Given the description of an element on the screen output the (x, y) to click on. 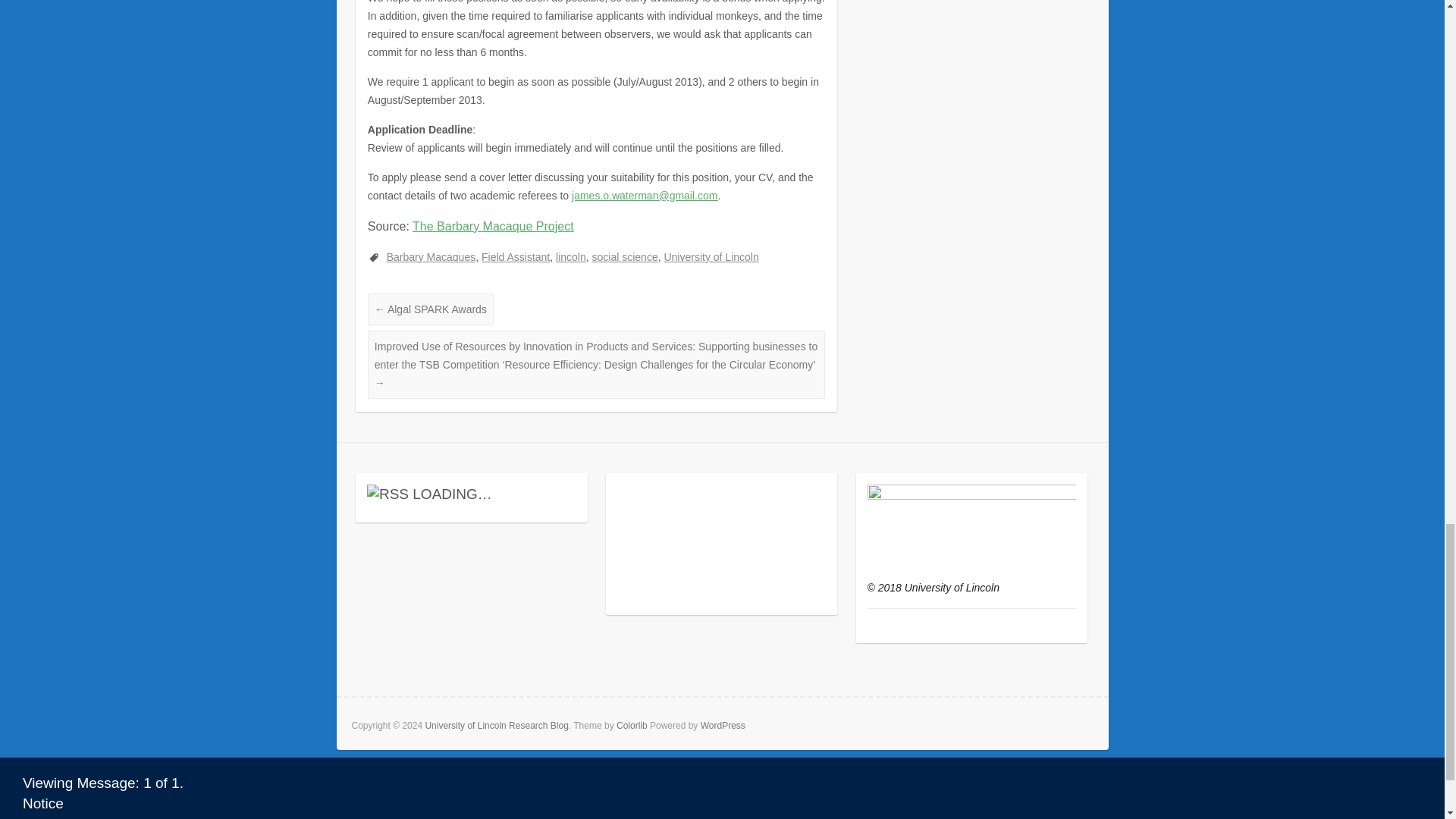
Barbary Macaques (431, 256)
lincoln (571, 256)
social science (625, 256)
Field Assistant (515, 256)
The Barbary Macaque Project (492, 226)
WordPress (722, 725)
University of Lincoln (710, 256)
Colorlib (631, 725)
University of Lincoln Research Blog (496, 725)
Syndicate this content (387, 494)
